Given the description of an element on the screen output the (x, y) to click on. 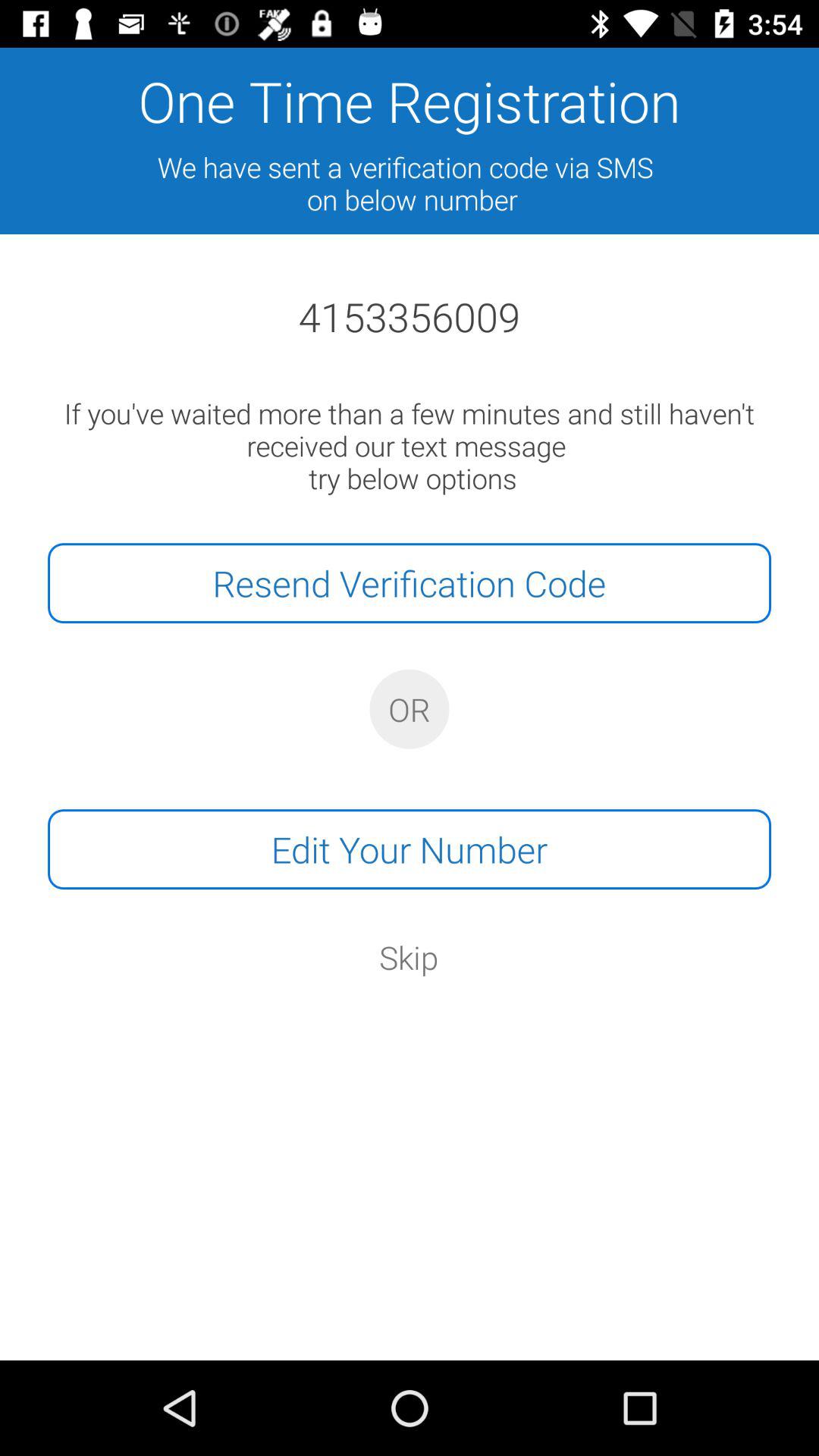
select item above skip item (409, 849)
